Given the description of an element on the screen output the (x, y) to click on. 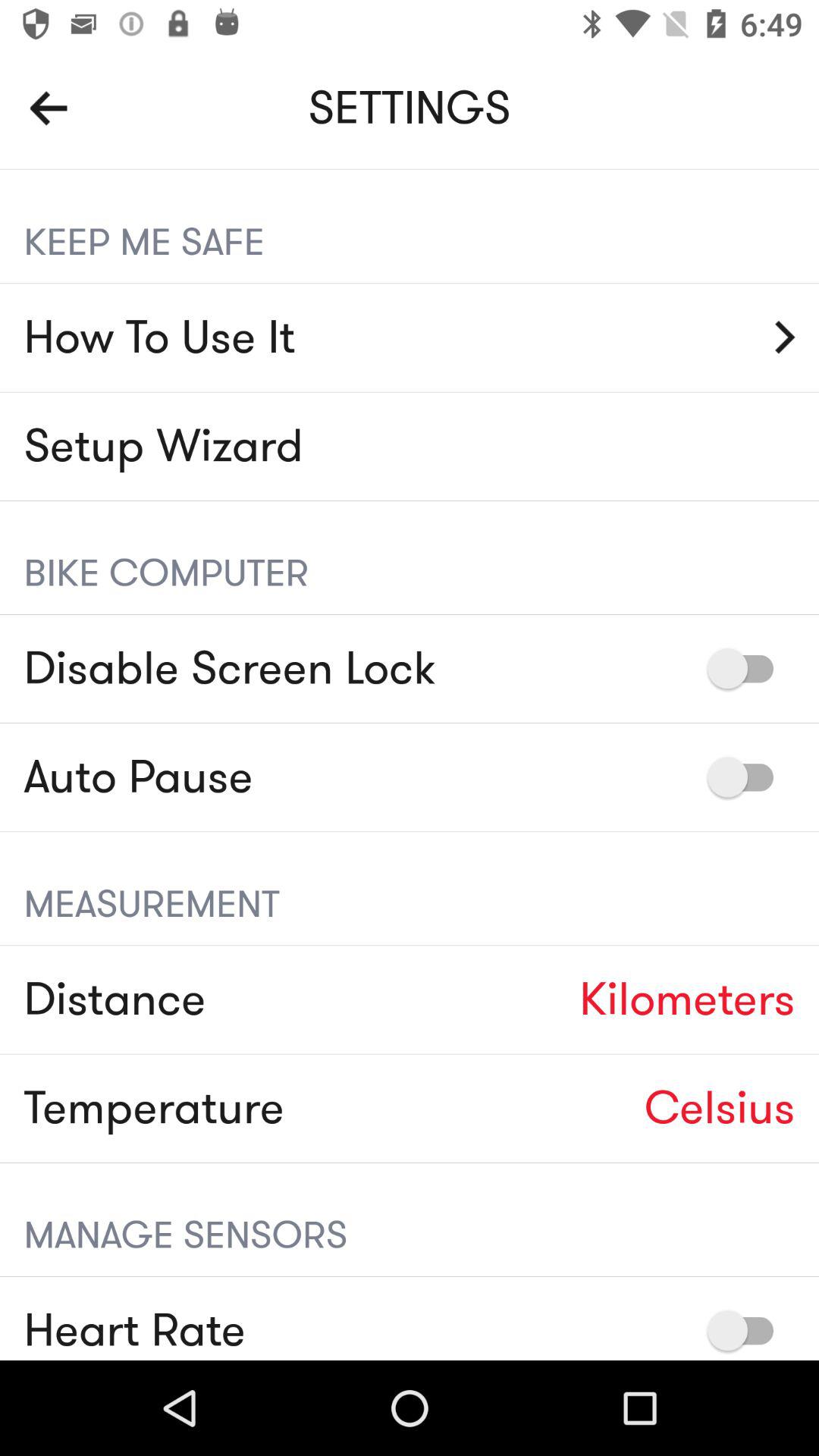
return to previous screen (48, 108)
